Given the description of an element on the screen output the (x, y) to click on. 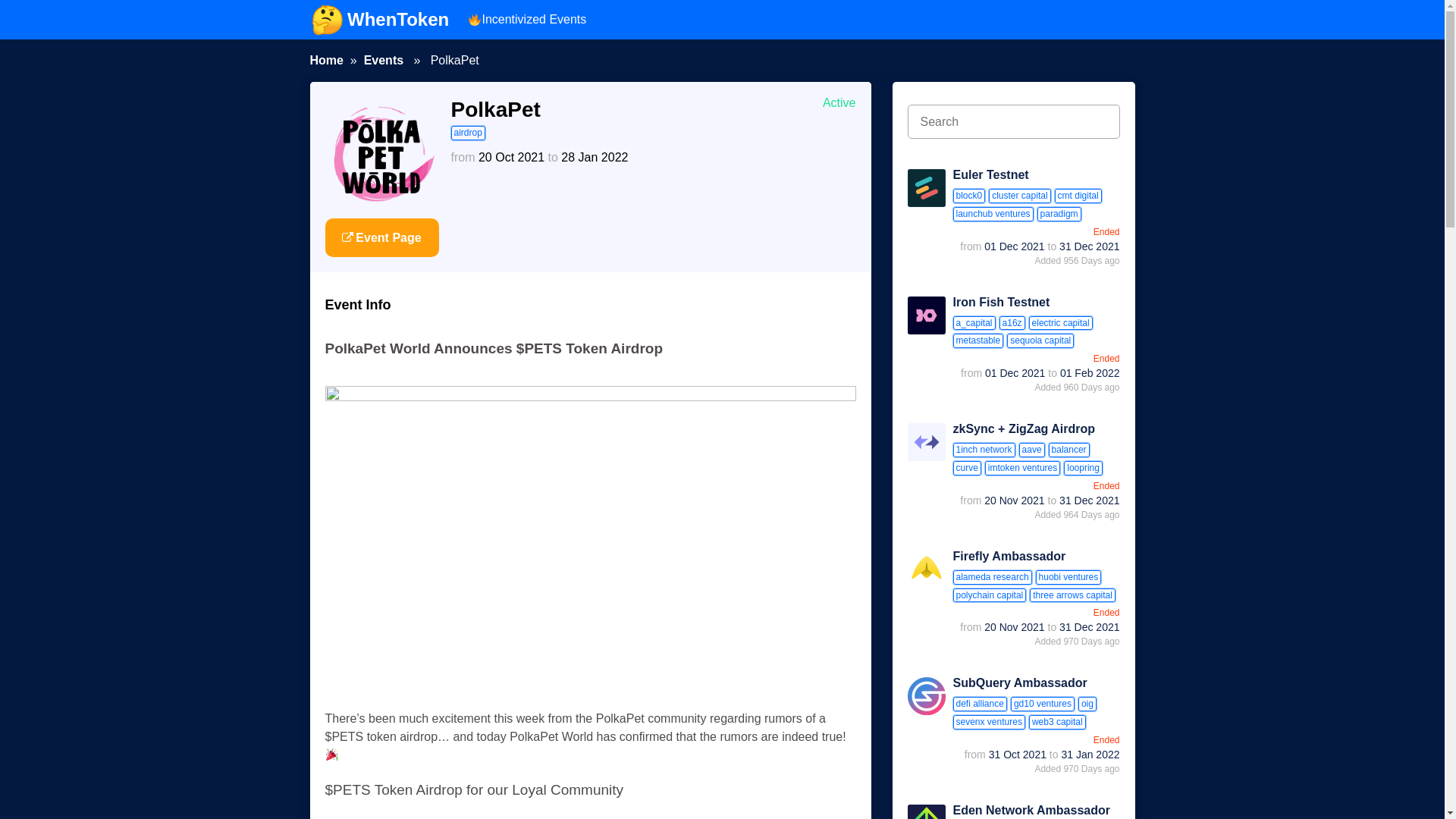
Home (325, 60)
WhenToken (379, 19)
Events (383, 60)
Event Page (381, 237)
Incentivized Events (526, 19)
